Given the description of an element on the screen output the (x, y) to click on. 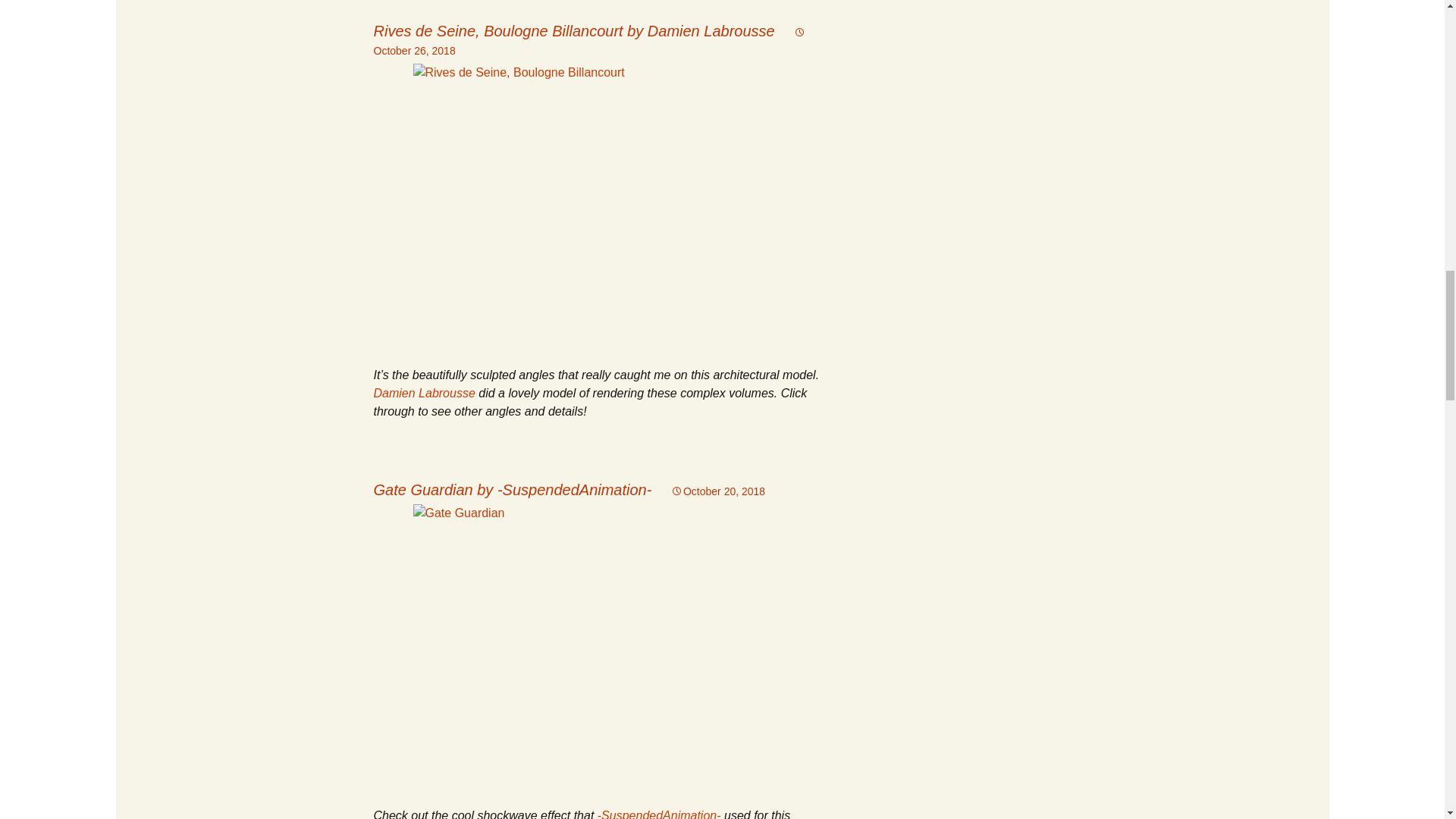
Gate Guardian by -SuspendedAnimation- (511, 489)
October 26, 2018 (589, 41)
October 20, 2018 (718, 491)
Gate Guardian (601, 646)
Damien Labrousse (423, 392)
Rives de Seine, Boulogne Billancourt (601, 205)
Permalink to Gate Guardian by -SuspendedAnimation- (718, 491)
Rives de Seine, Boulogne Billancourt by Damien Labrousse (573, 30)
-SuspendedAnimation- (658, 814)
